Given the description of an element on the screen output the (x, y) to click on. 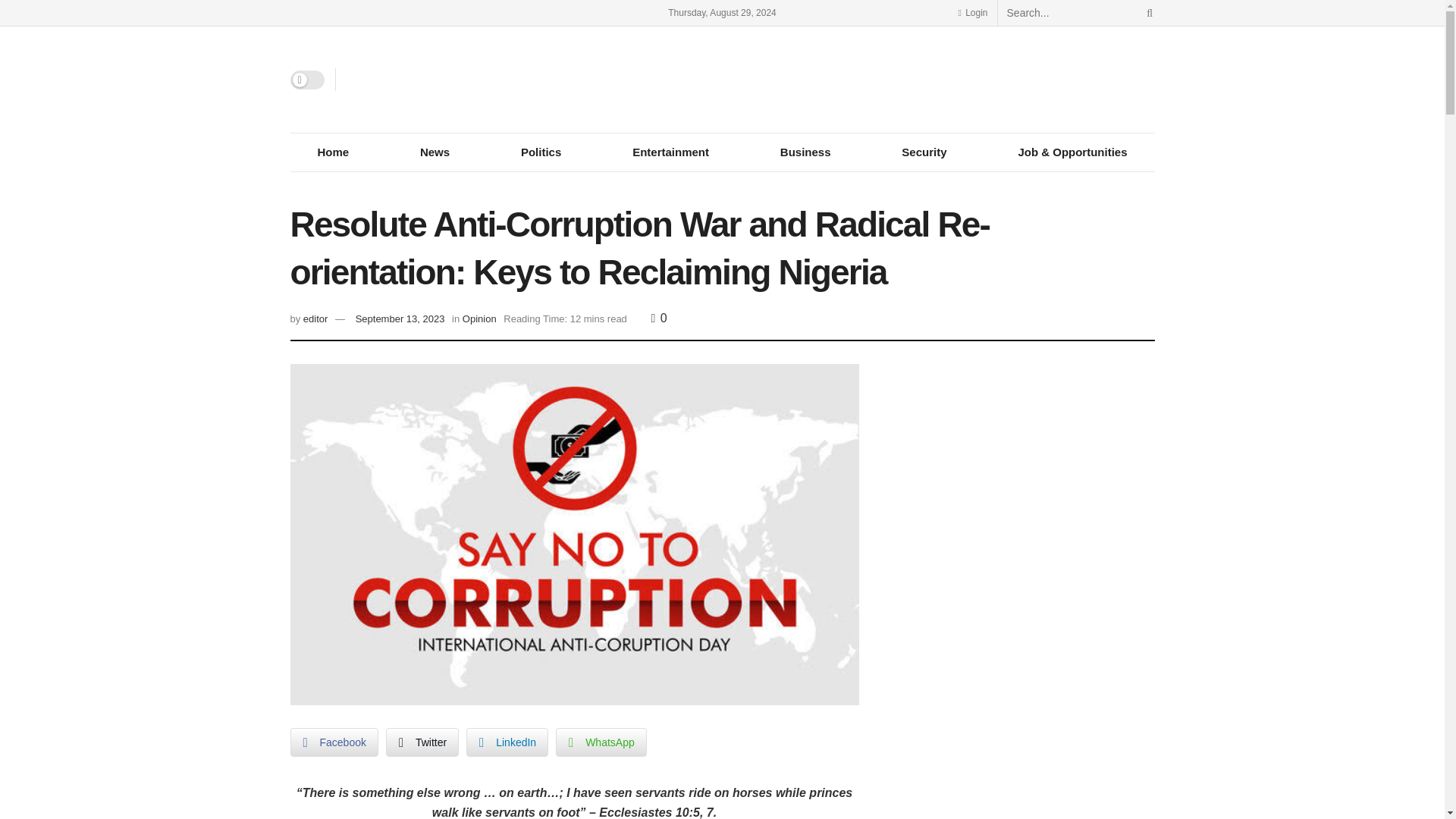
Home (332, 152)
Login (972, 12)
September 13, 2023 (400, 318)
LinkedIn (506, 742)
Security (924, 152)
0 (658, 318)
Business (805, 152)
Twitter (421, 742)
Opinion (479, 318)
Entertainment (670, 152)
